Given the description of an element on the screen output the (x, y) to click on. 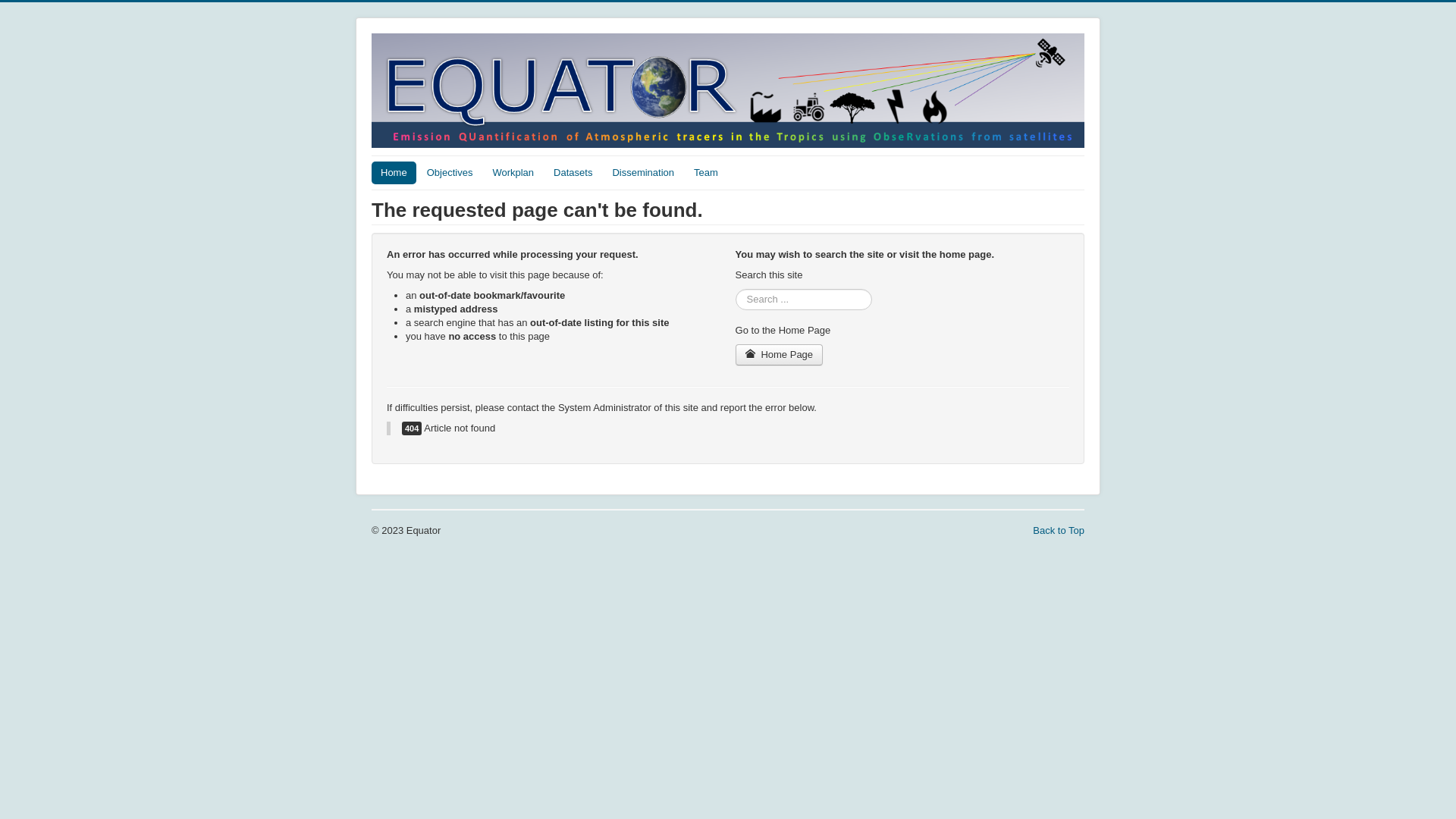
Workplan Element type: text (512, 172)
Team Element type: text (705, 172)
Back to Top Element type: text (1058, 530)
Objectives Element type: text (449, 172)
Dissemination Element type: text (642, 172)
Datasets Element type: text (572, 172)
Home Element type: text (393, 172)
Home Page Element type: text (779, 354)
